Given the description of an element on the screen output the (x, y) to click on. 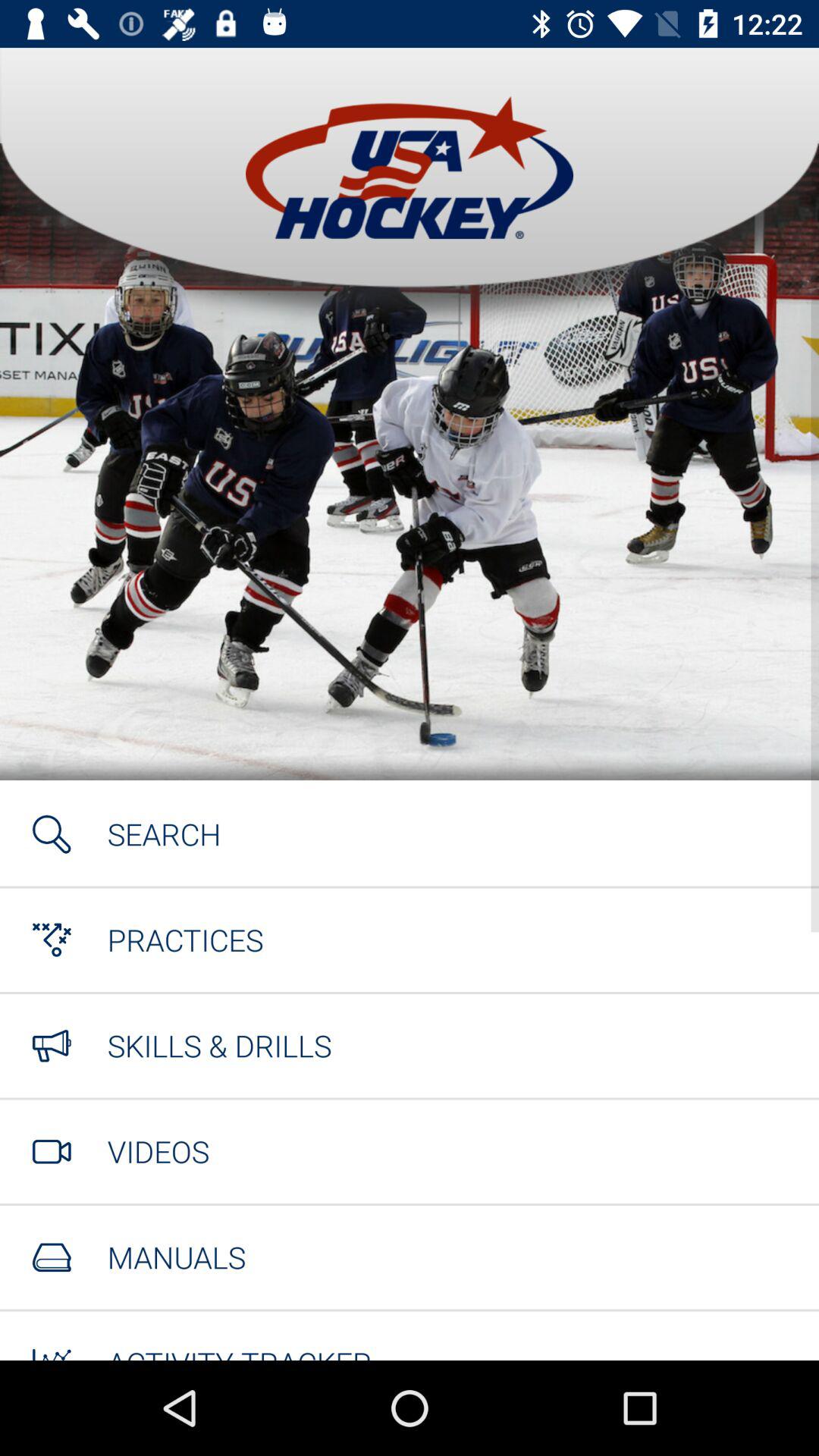
turn on the icon above the practices (164, 833)
